Given the description of an element on the screen output the (x, y) to click on. 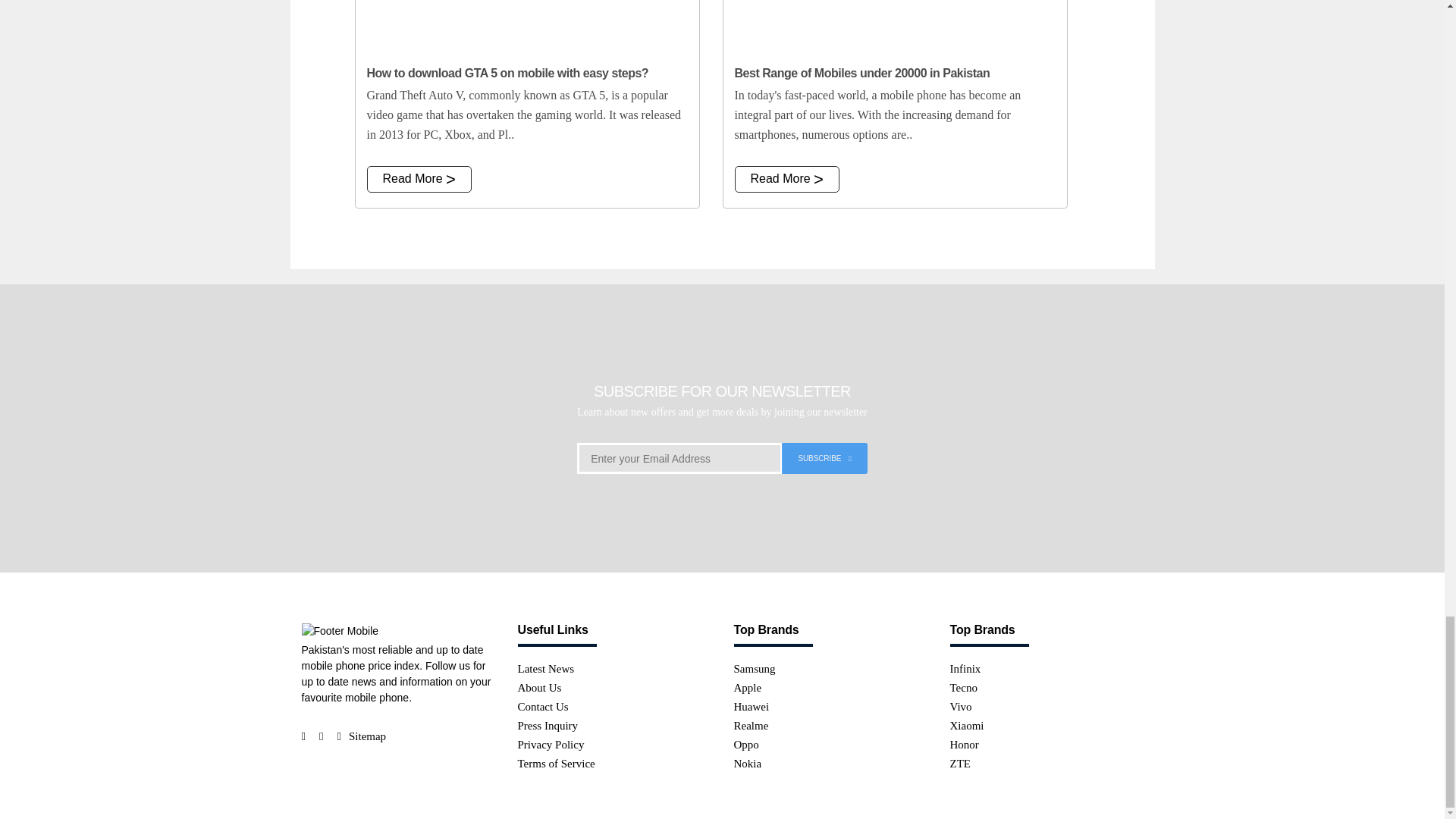
How to download GTA 5 on mobile with easy steps? (526, 27)
SiteMap (367, 736)
Best Range of Mobiles under 20000 in Pakistan (895, 27)
